Given the description of an element on the screen output the (x, y) to click on. 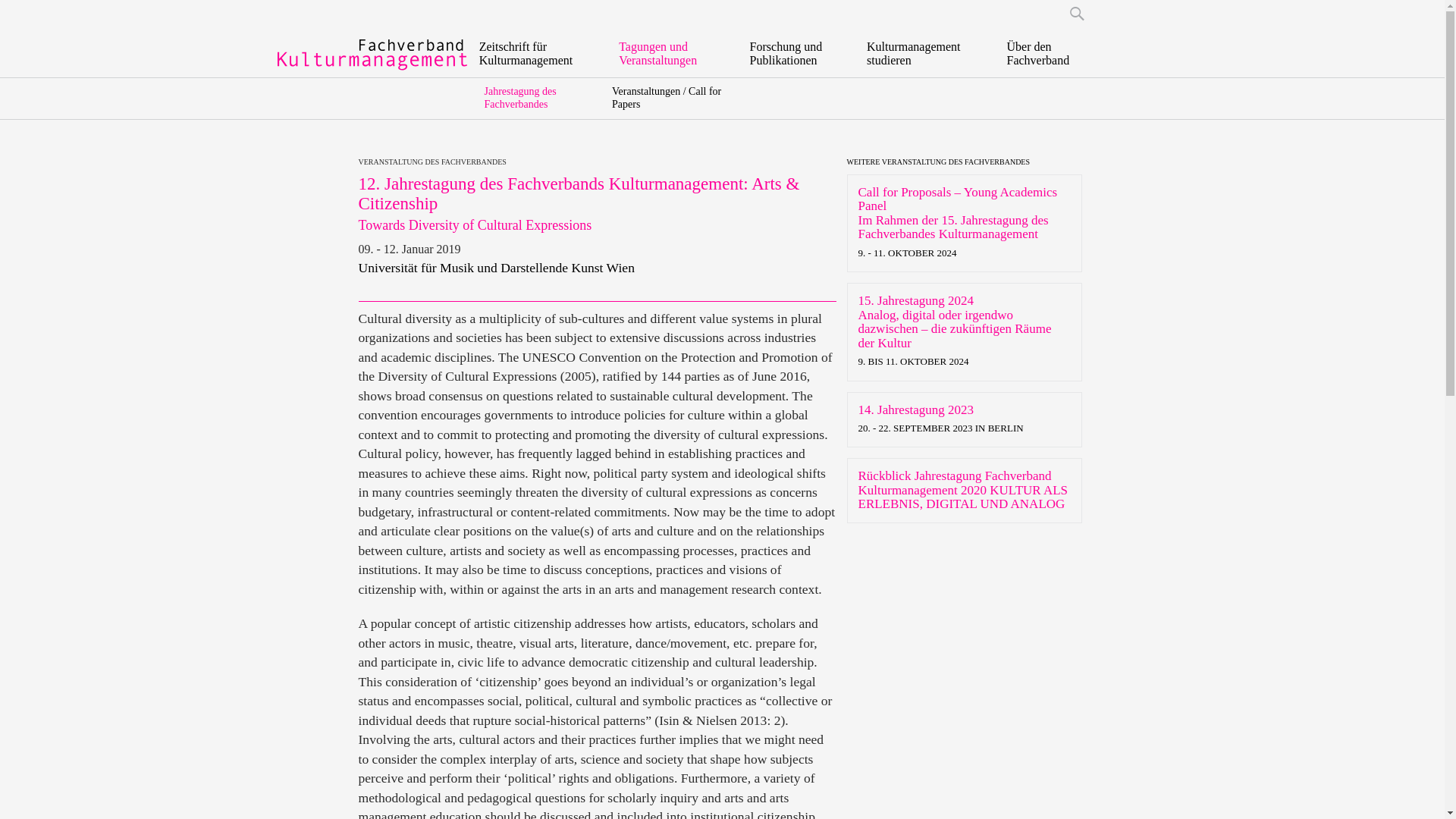
Jahrestagung des Fachverbandes (519, 97)
Skip to content (519, 49)
Jahrestagung des Fachverbandes (519, 97)
Search (1089, 13)
14. Jahrestagung 2023 (916, 409)
15. Jahrestagung 2024 (916, 300)
14. Jahrestagung 2023 (916, 409)
Fachverband Kulturmanagement (373, 55)
15. Jahrestagung 2024 (916, 300)
Tagungen und Veranstaltungen (672, 53)
Forschung und Publikationen (796, 53)
Kulturmanagement studieren (925, 53)
